Given the description of an element on the screen output the (x, y) to click on. 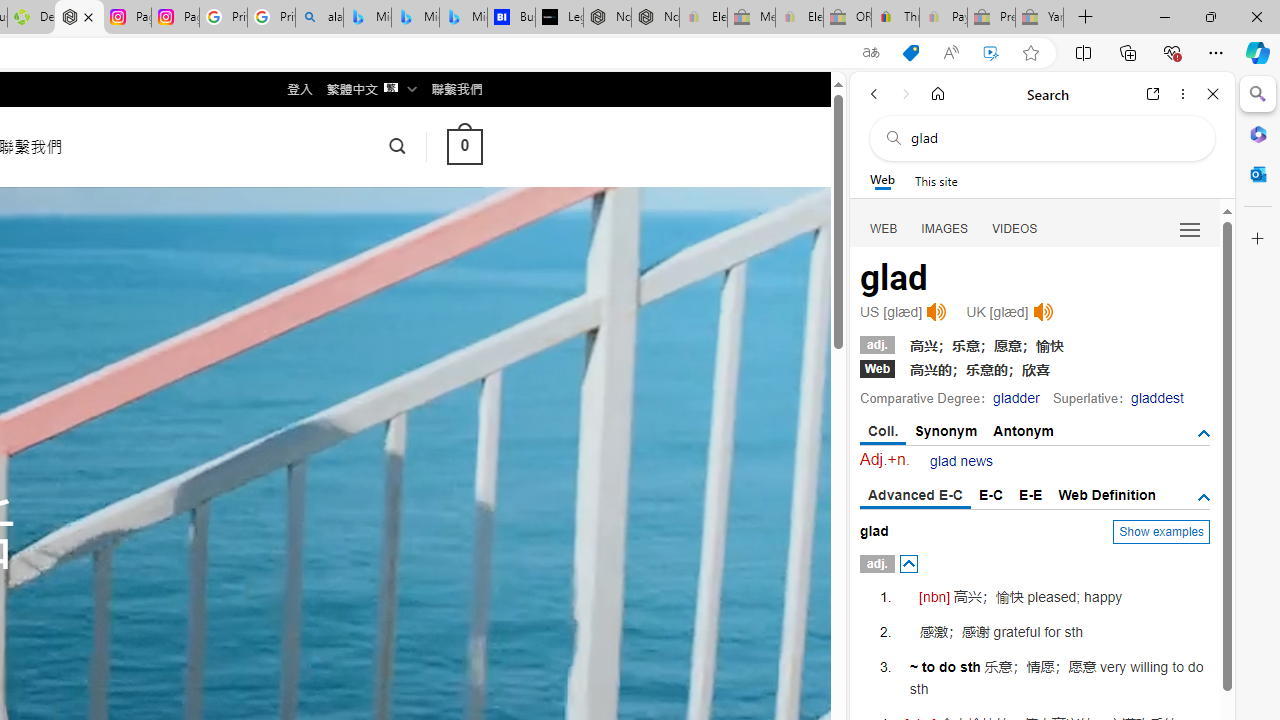
gladder (1015, 398)
E-C (991, 494)
AutomationID: tgsb (1203, 433)
Antonym (1023, 430)
Threats and offensive language policy | eBay (895, 17)
